Given the description of an element on the screen output the (x, y) to click on. 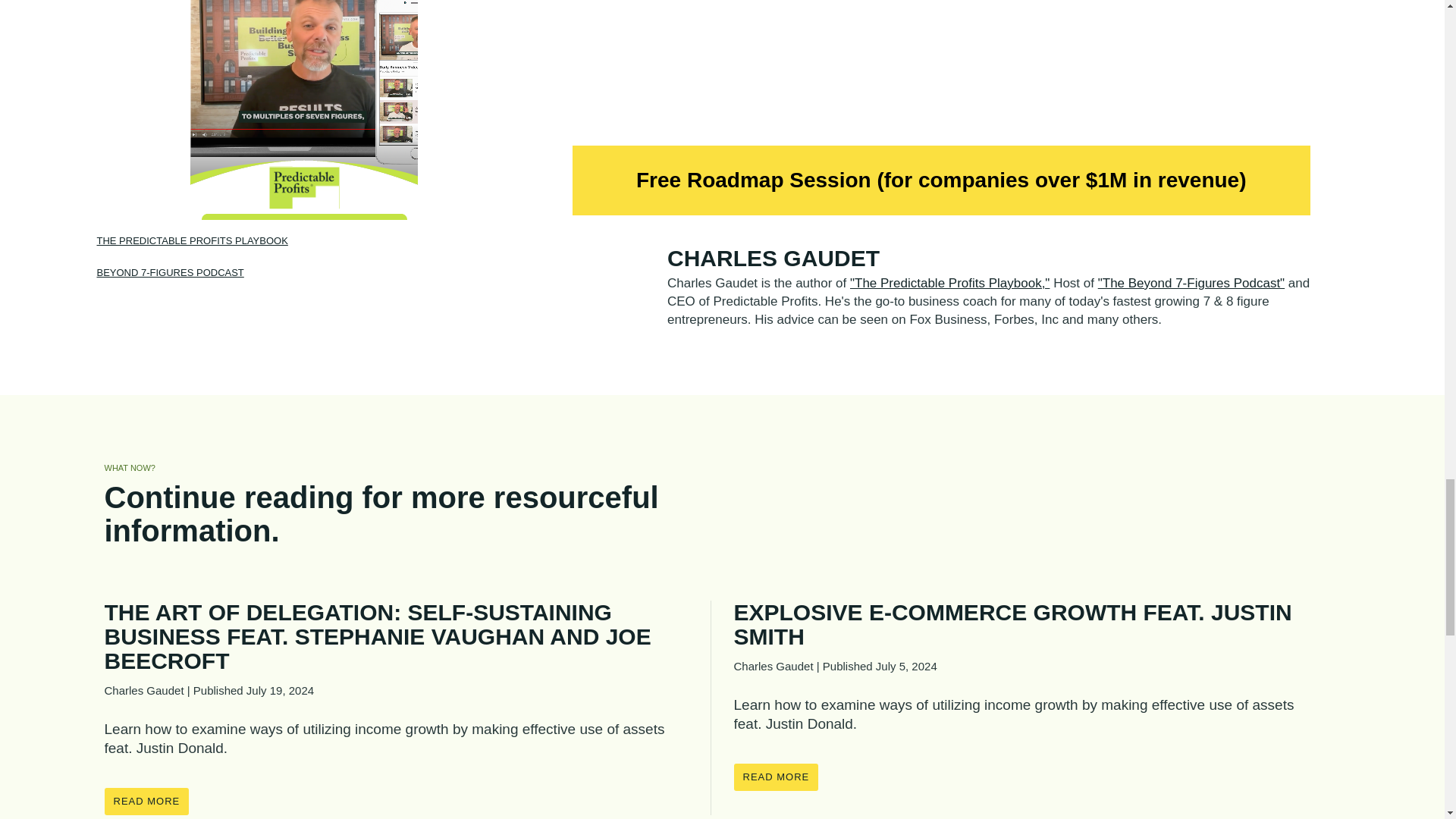
"The Beyond 7-Figures Podcast" (1190, 283)
"The Predictable Profits Playbook," (949, 283)
